Given the description of an element on the screen output the (x, y) to click on. 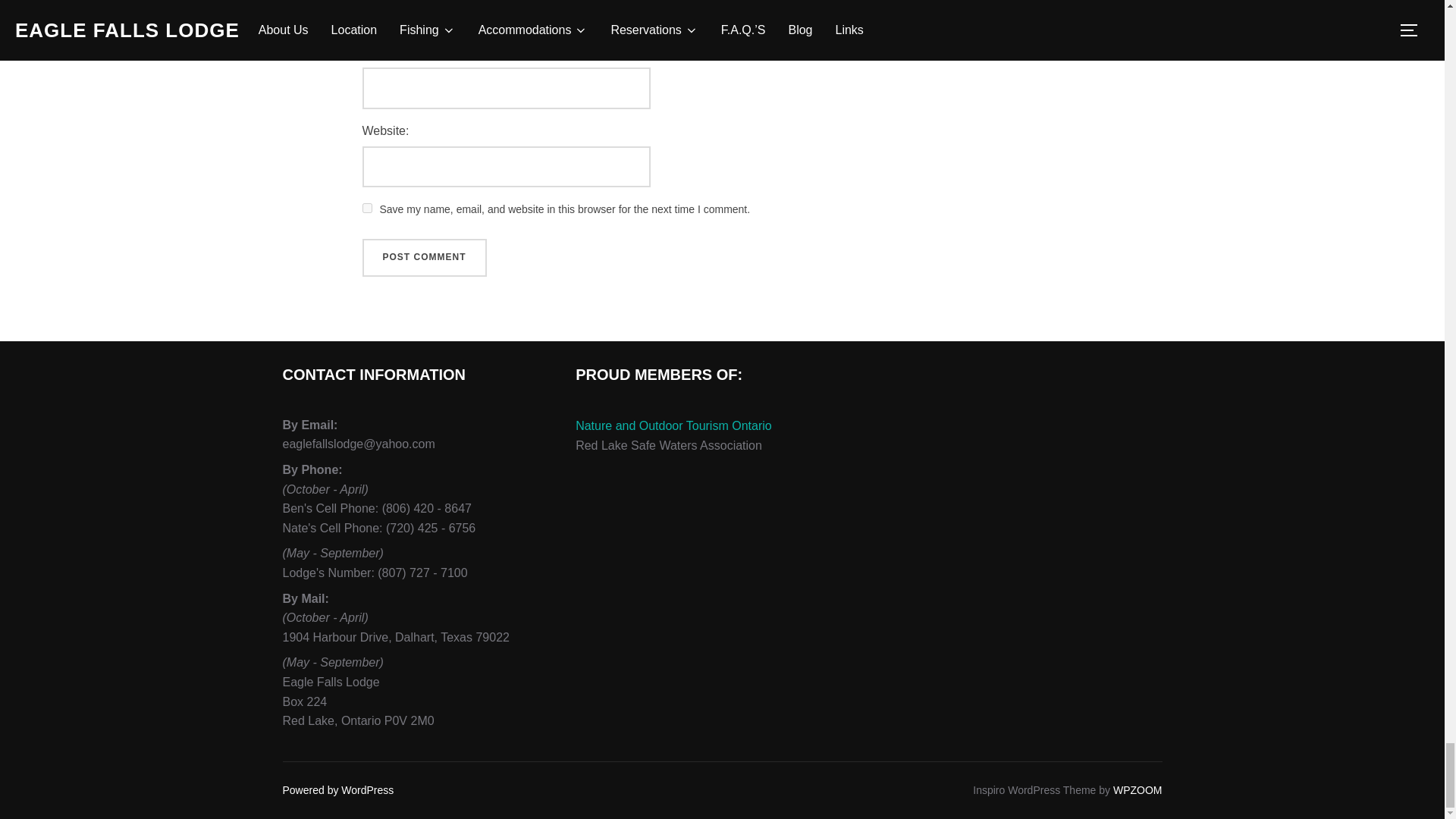
Post Comment (424, 257)
yes (367, 207)
